Given the description of an element on the screen output the (x, y) to click on. 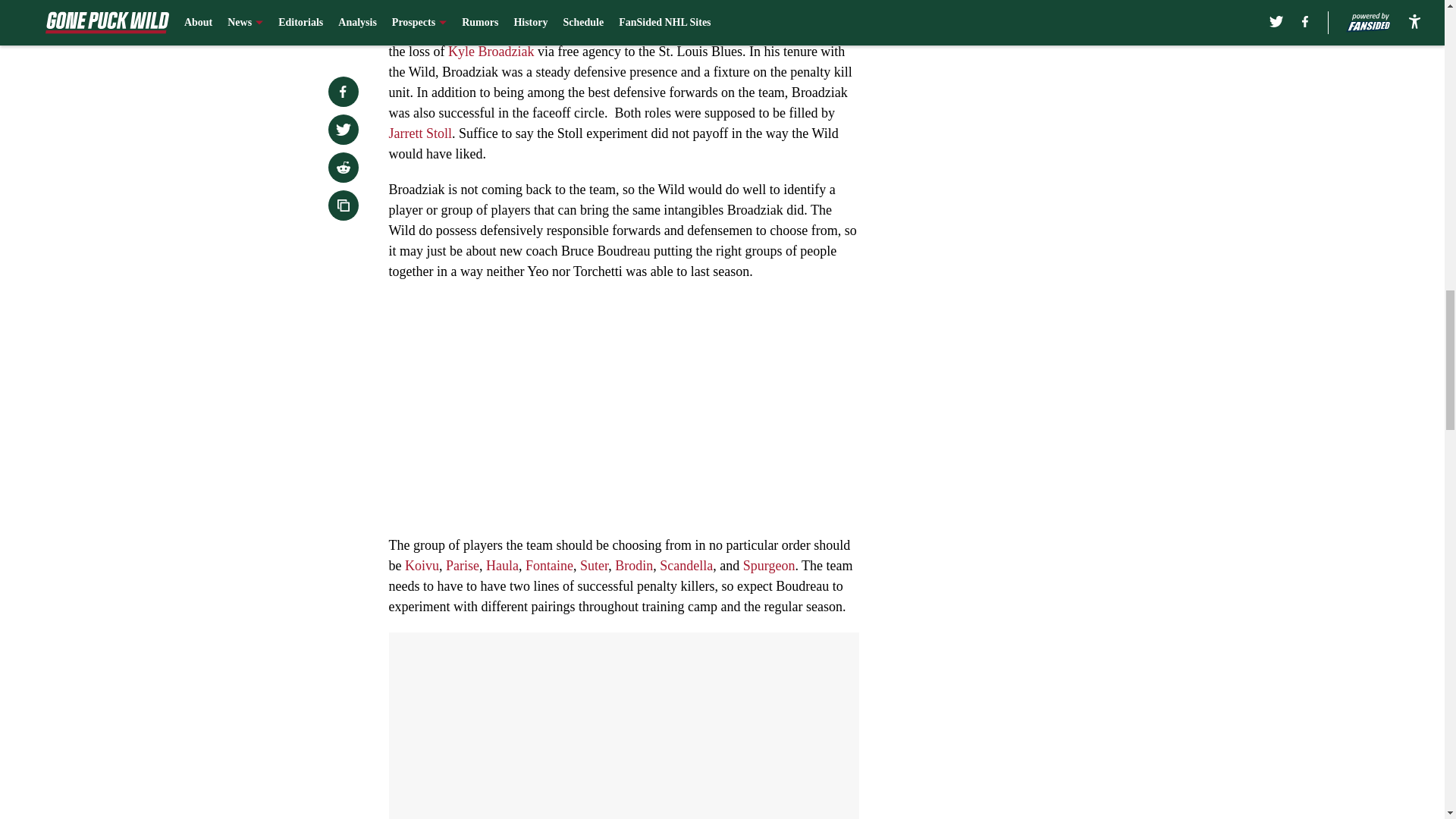
Scandella (686, 565)
Koivu (421, 565)
Suter (593, 565)
Fontaine (549, 565)
Haula (502, 565)
Brodin (633, 565)
Spurgeon (768, 565)
Jarrett Stoll (419, 133)
Kyle Broadziak (492, 51)
Parise (462, 565)
